Given the description of an element on the screen output the (x, y) to click on. 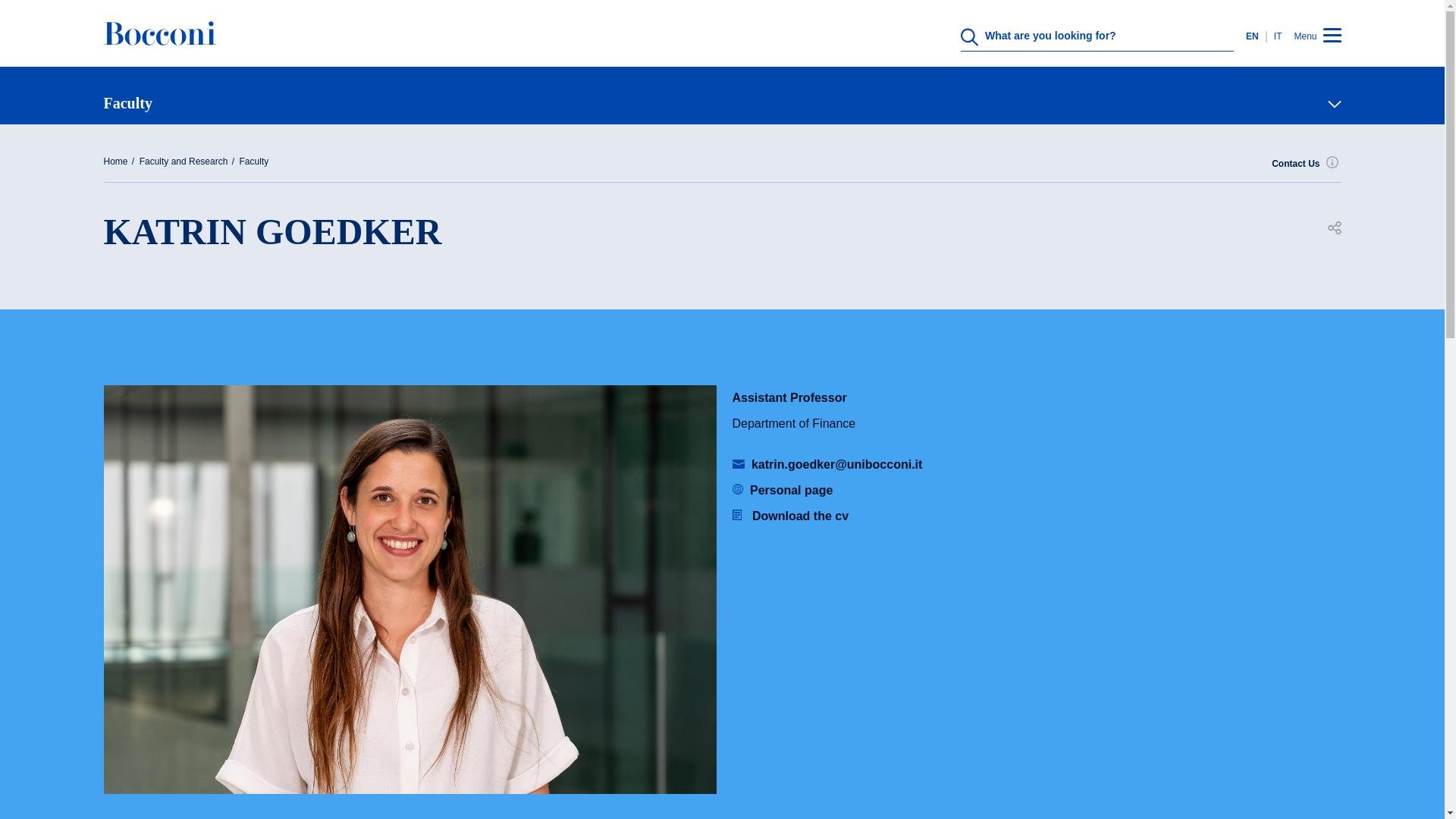
English (1255, 36)
Faculty and Research (716, 476)
Campus (716, 551)
Italian (1275, 36)
Programs (716, 402)
EN (1255, 36)
IT (1275, 36)
About Us (716, 328)
Home (159, 43)
Applying to Bocconi (716, 625)
